Given the description of an element on the screen output the (x, y) to click on. 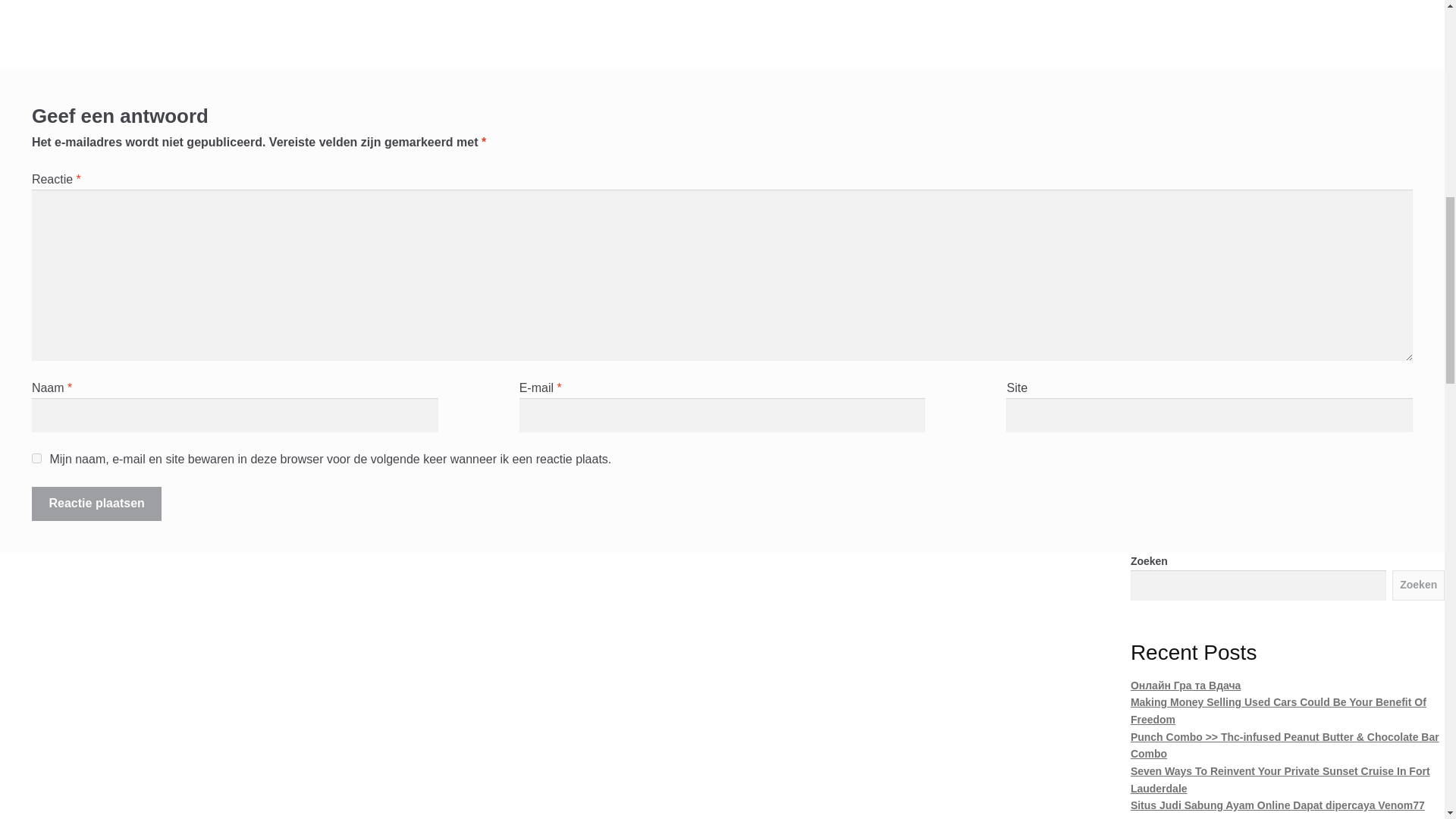
Situs Judi Sabung Ayam Online Dapat dipercaya Venom77 (1278, 805)
Reactie plaatsen (96, 503)
Reactie plaatsen (96, 503)
yes (37, 458)
